Given the description of an element on the screen output the (x, y) to click on. 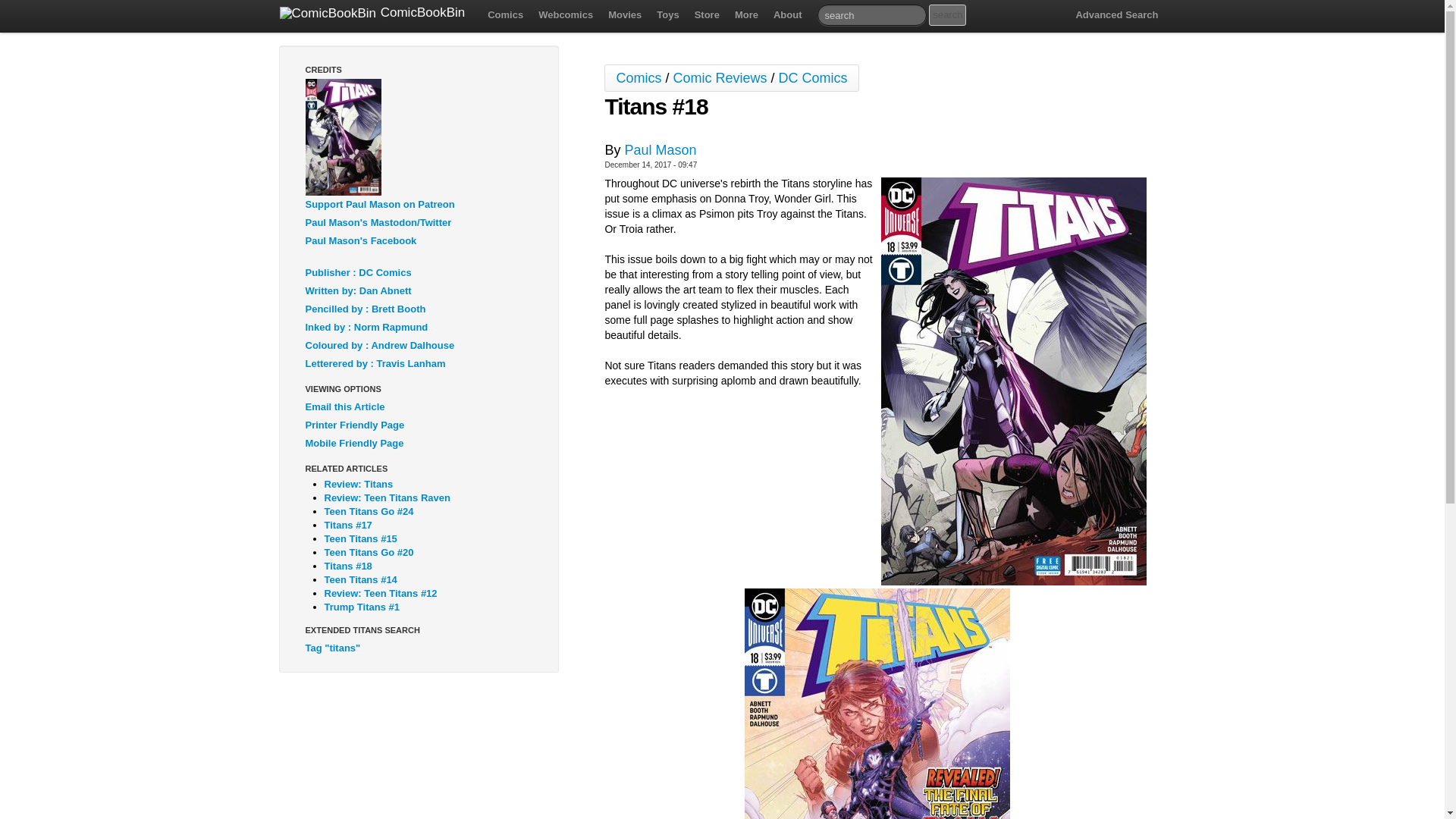
Comics (505, 15)
 ComicBookBin (371, 14)
About (787, 15)
Webcomics (565, 15)
search (947, 14)
Movies (624, 15)
More (745, 15)
Toys (667, 15)
Store (706, 15)
